Given the description of an element on the screen output the (x, y) to click on. 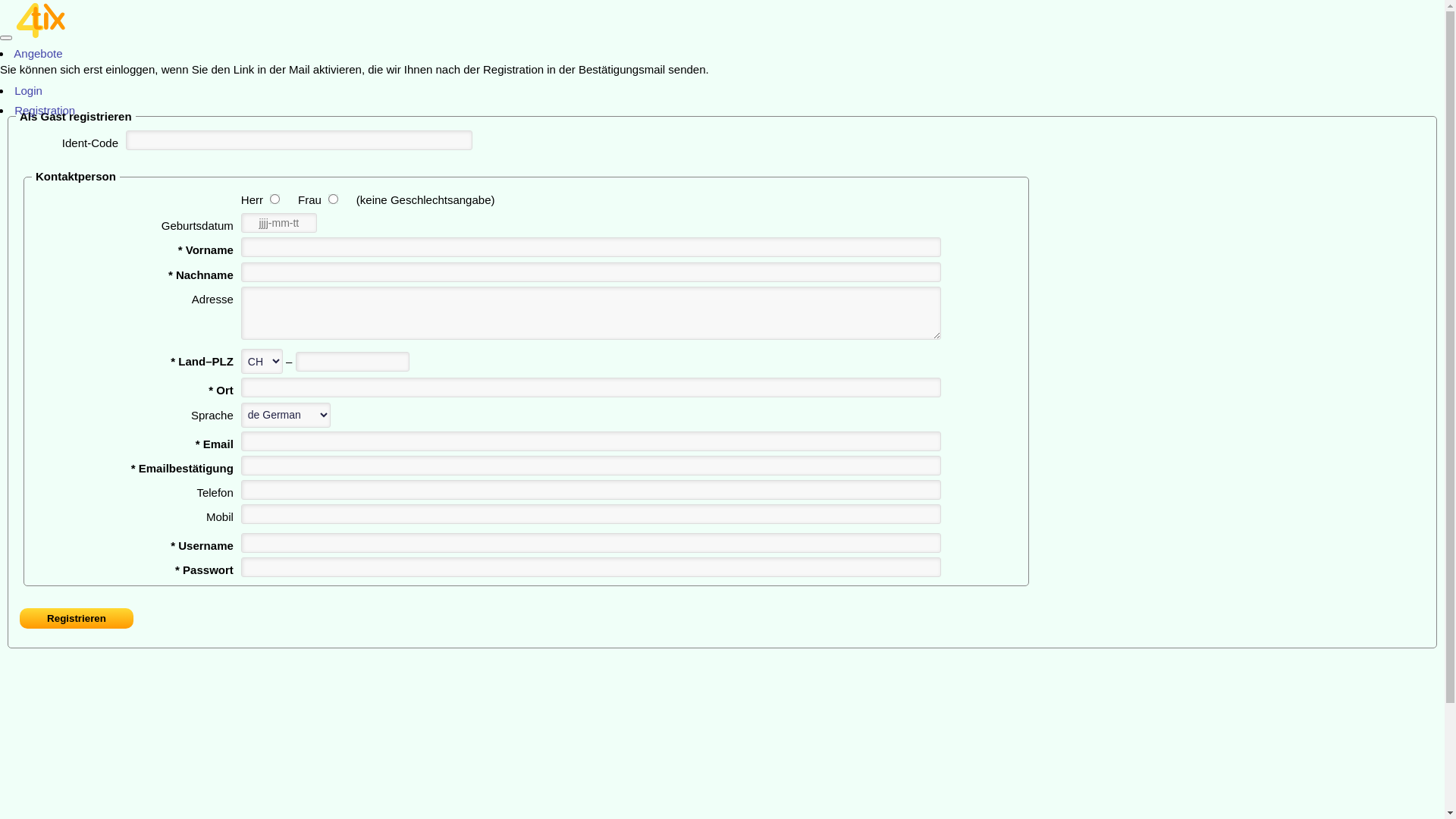
 Login Element type: text (26, 90)
4tix Home 3.0.0 Element type: hover (722, 21)
(keine Geschlechtsangabe) Element type: text (425, 199)
 Registration Element type: text (43, 109)
Registrieren Element type: text (76, 618)
 Angebote Element type: text (36, 53)
